Given the description of an element on the screen output the (x, y) to click on. 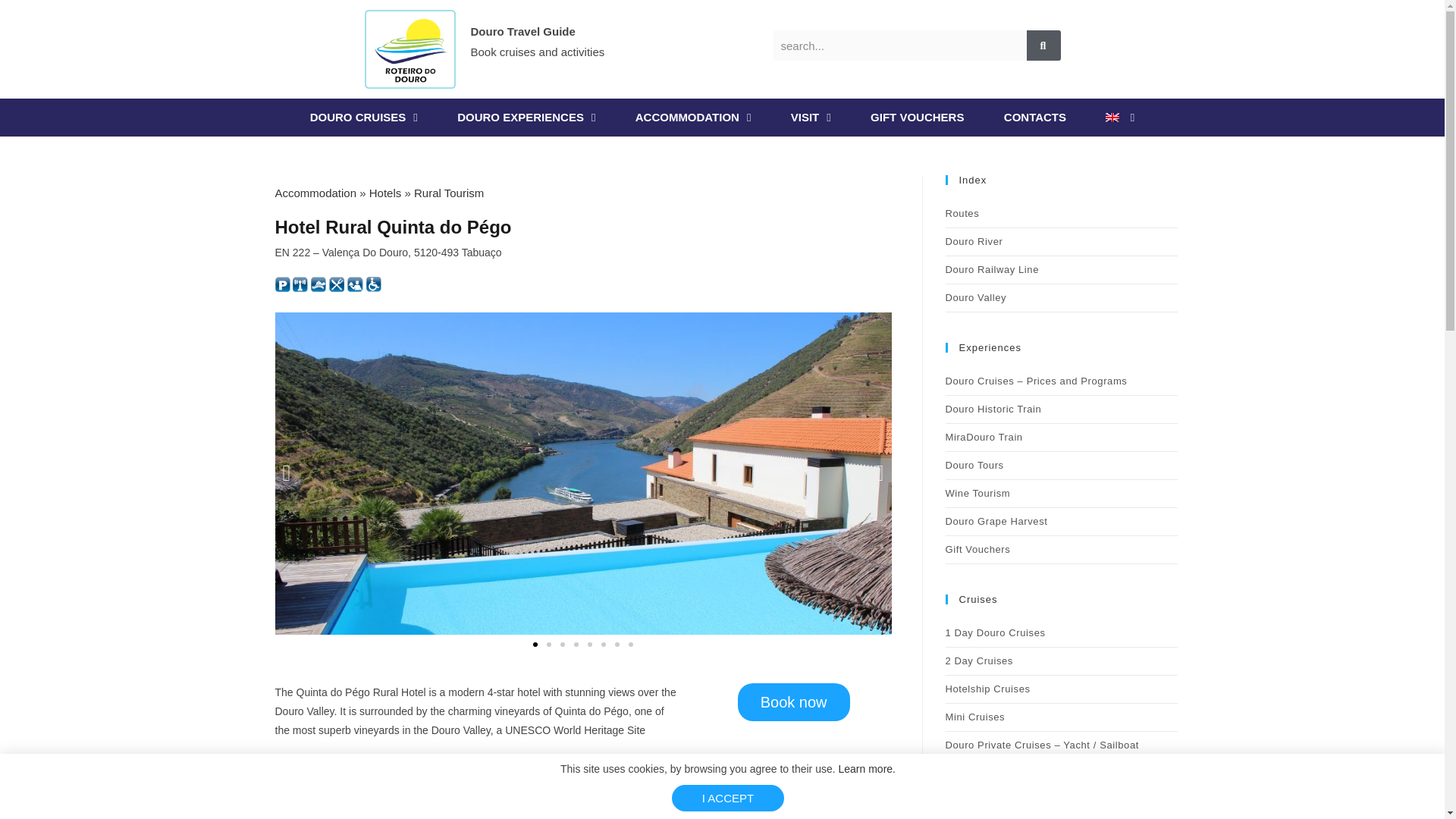
CONTACTS (1035, 117)
swimming pool (318, 283)
VISIT (810, 117)
DOURO EXPERIENCES (526, 117)
internet (299, 283)
room service (354, 283)
DOURO CRUISES (363, 117)
restaurant (336, 283)
facilities for disabled guests (373, 283)
GIFT VOUCHERS (917, 117)
ACCOMMODATION (693, 117)
parking (282, 283)
